Given the description of an element on the screen output the (x, y) to click on. 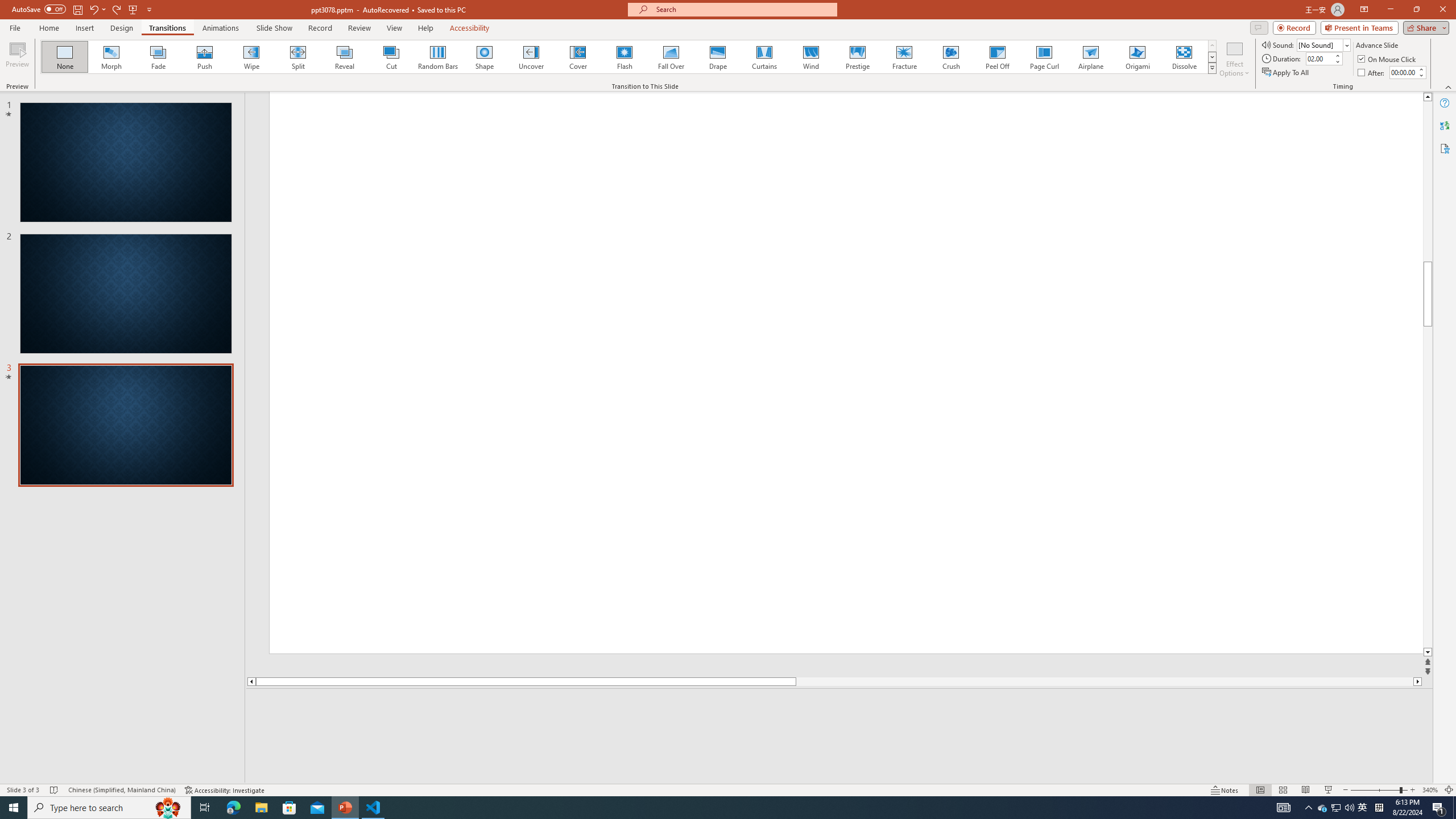
Uncover (531, 56)
Duration (1319, 58)
Split (298, 56)
Sound (1324, 44)
AutomationID: AnimationTransitionGallery (628, 56)
Flash (624, 56)
Drape (717, 56)
